Given the description of an element on the screen output the (x, y) to click on. 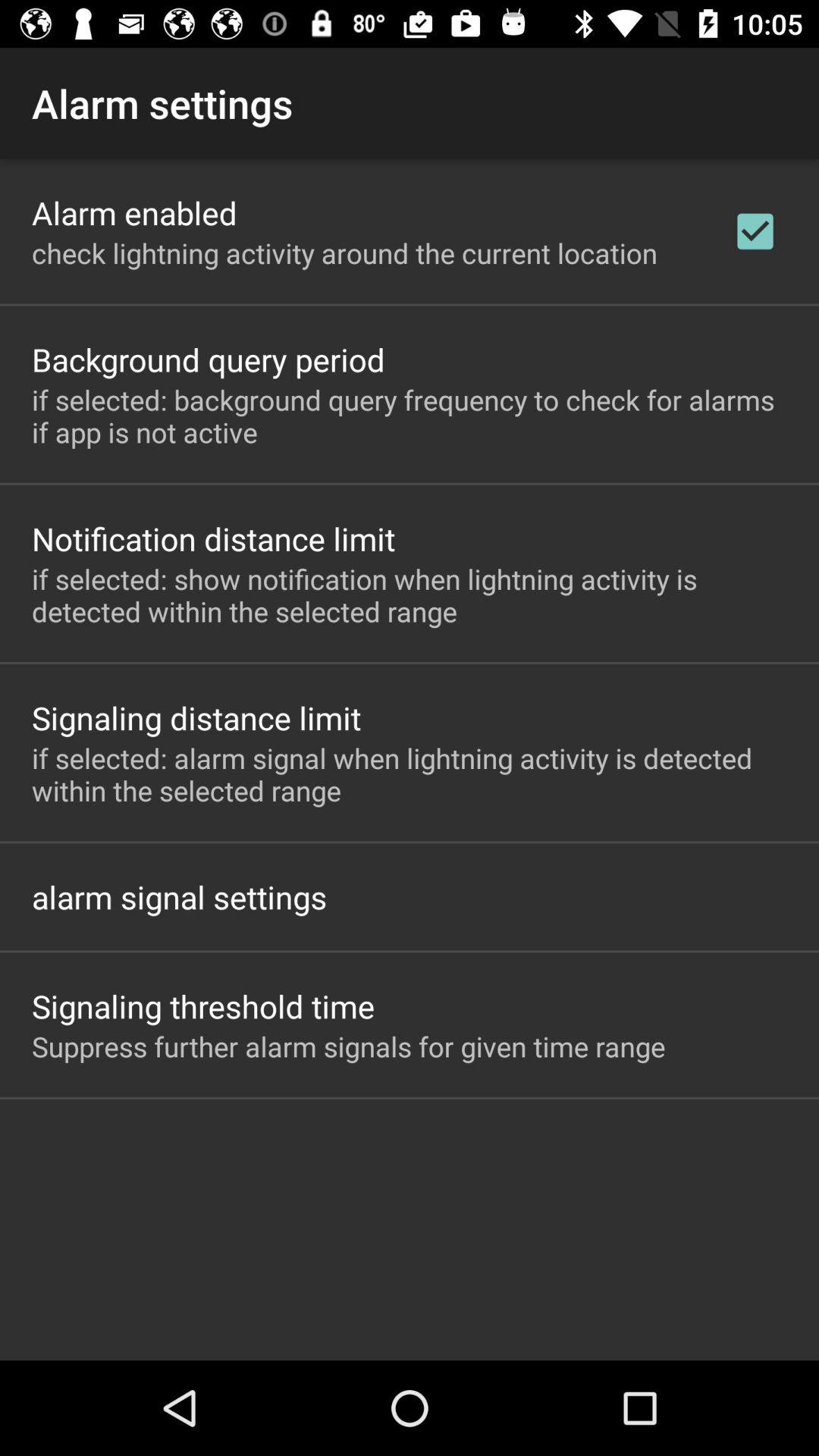
flip to the suppress further alarm app (348, 1046)
